Given the description of an element on the screen output the (x, y) to click on. 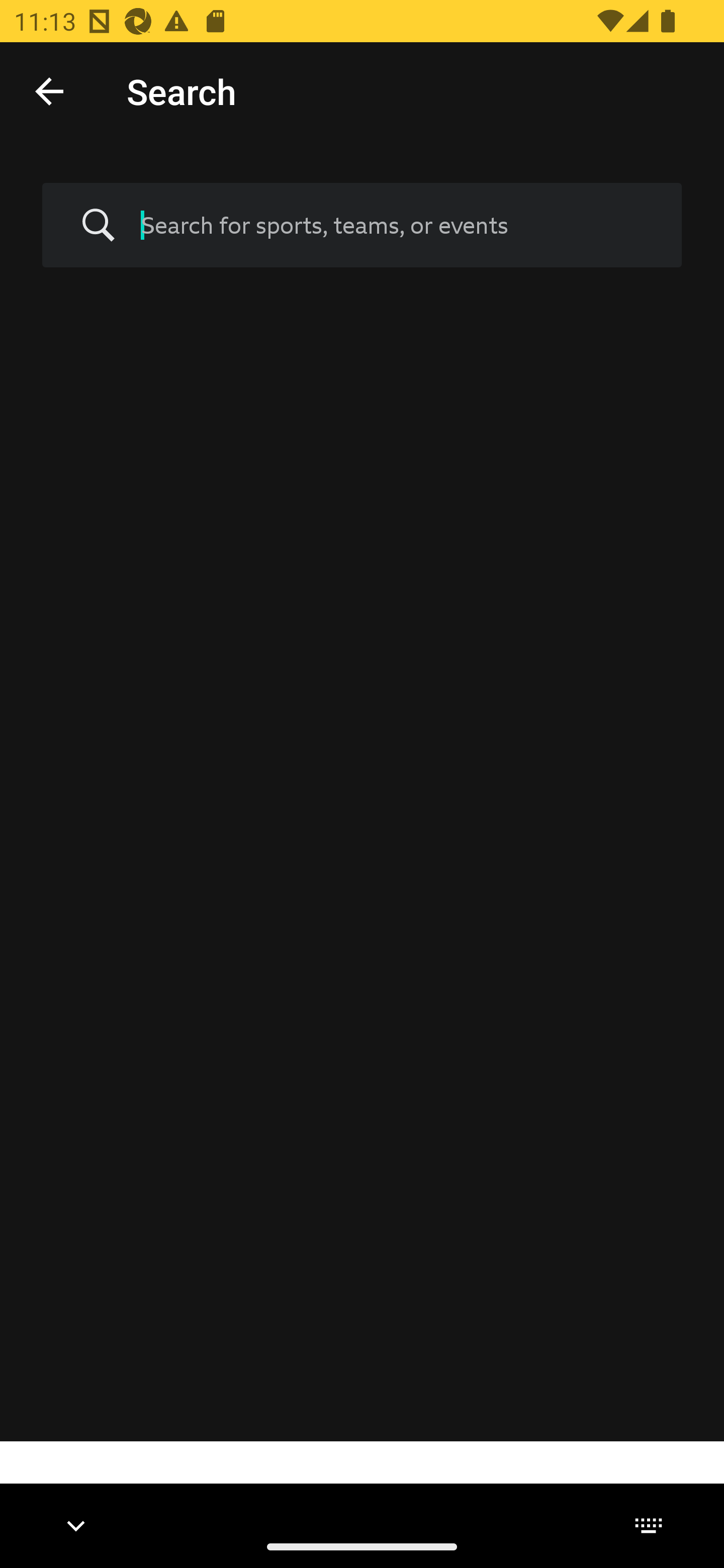
Done (49, 90)
Search for sports, teams, or events (361, 225)
Search for sports, teams, or events (396, 224)
